Given the description of an element on the screen output the (x, y) to click on. 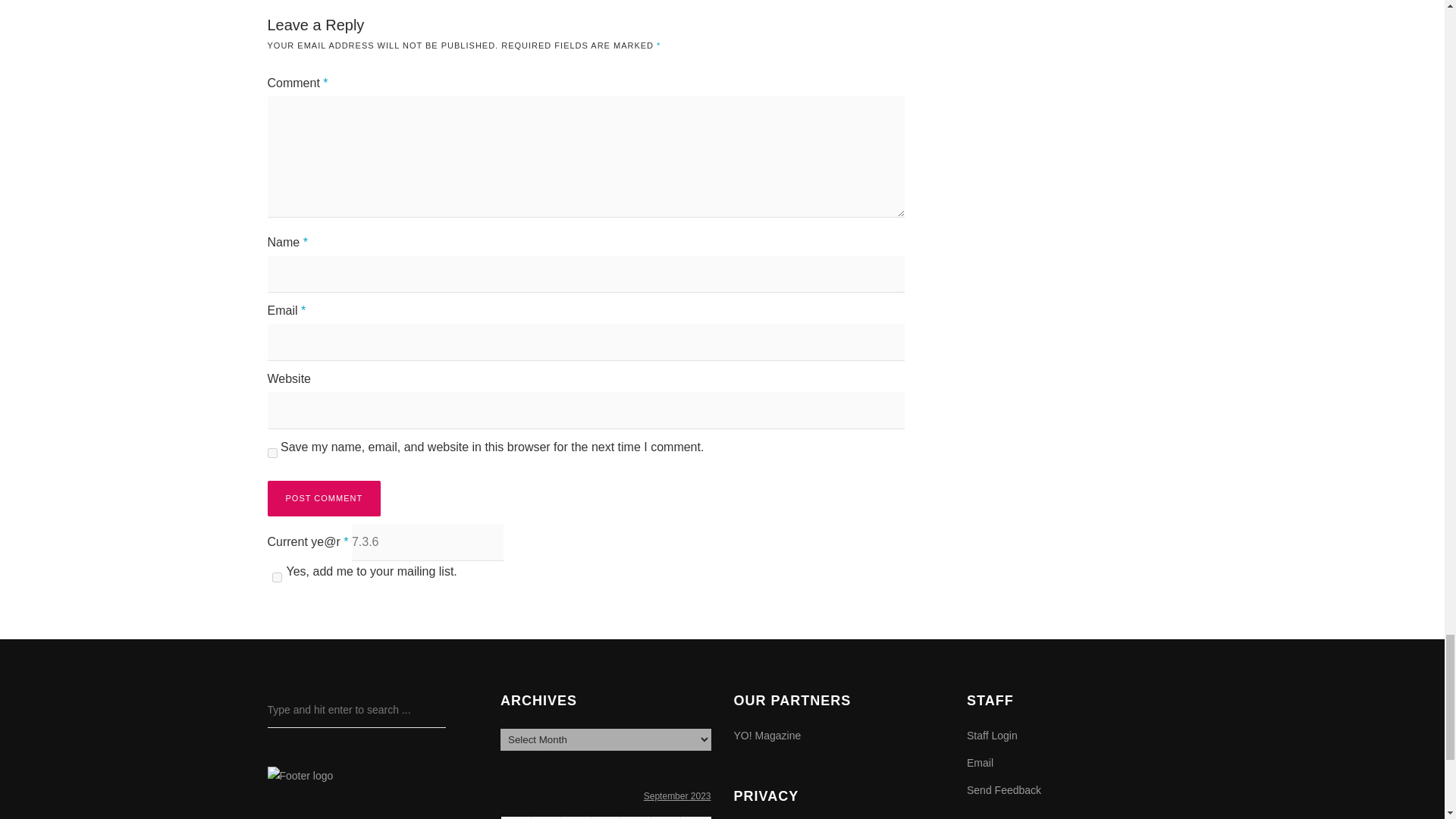
yes (271, 452)
Monday (515, 817)
Post Comment (323, 498)
Type and hit enter to search ... (355, 710)
7.3.6 (427, 542)
Type and hit enter to search ... (355, 710)
1 (275, 577)
